Given the description of an element on the screen output the (x, y) to click on. 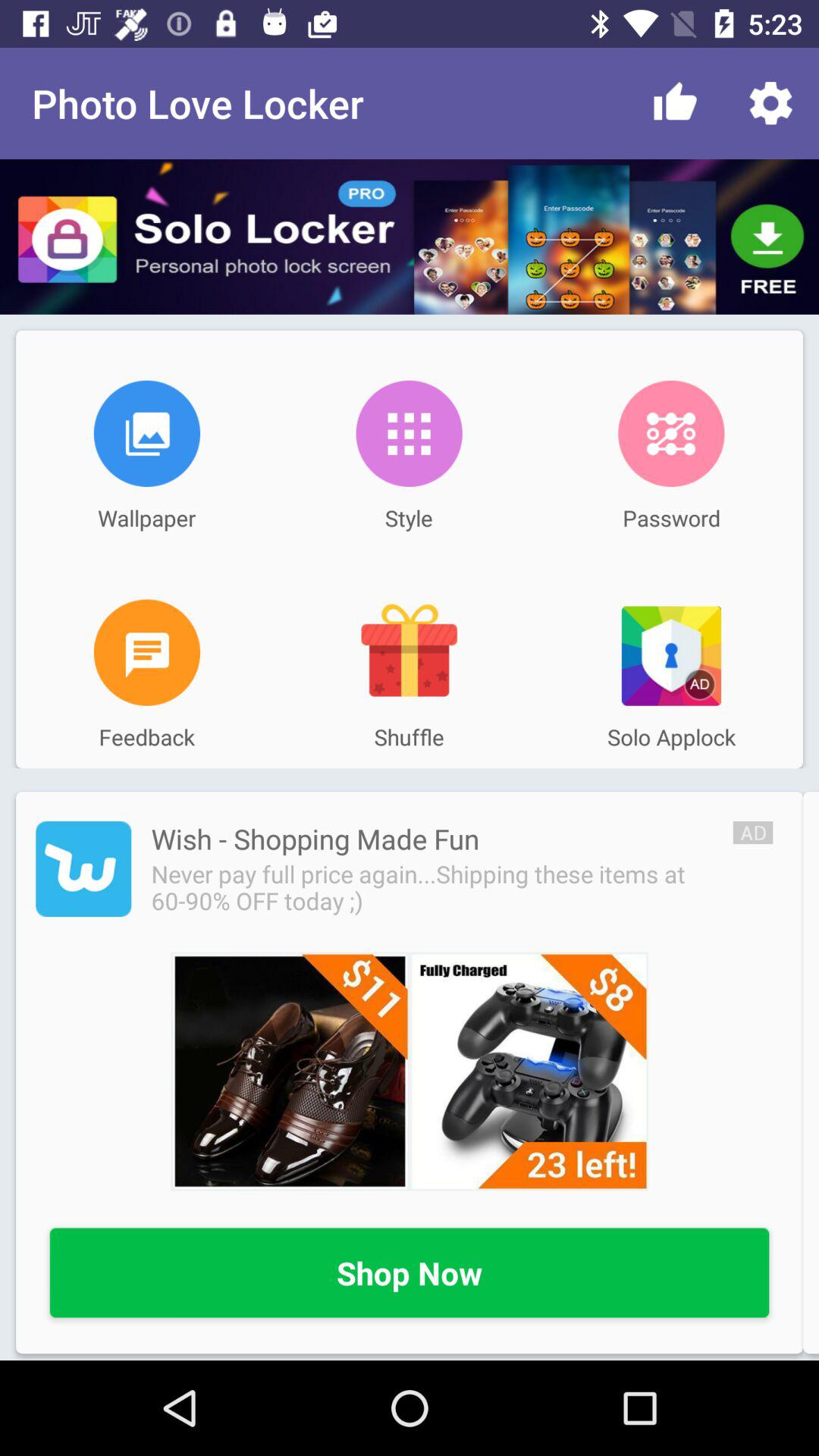
click to go to advertisement 's webpage (83, 868)
